Given the description of an element on the screen output the (x, y) to click on. 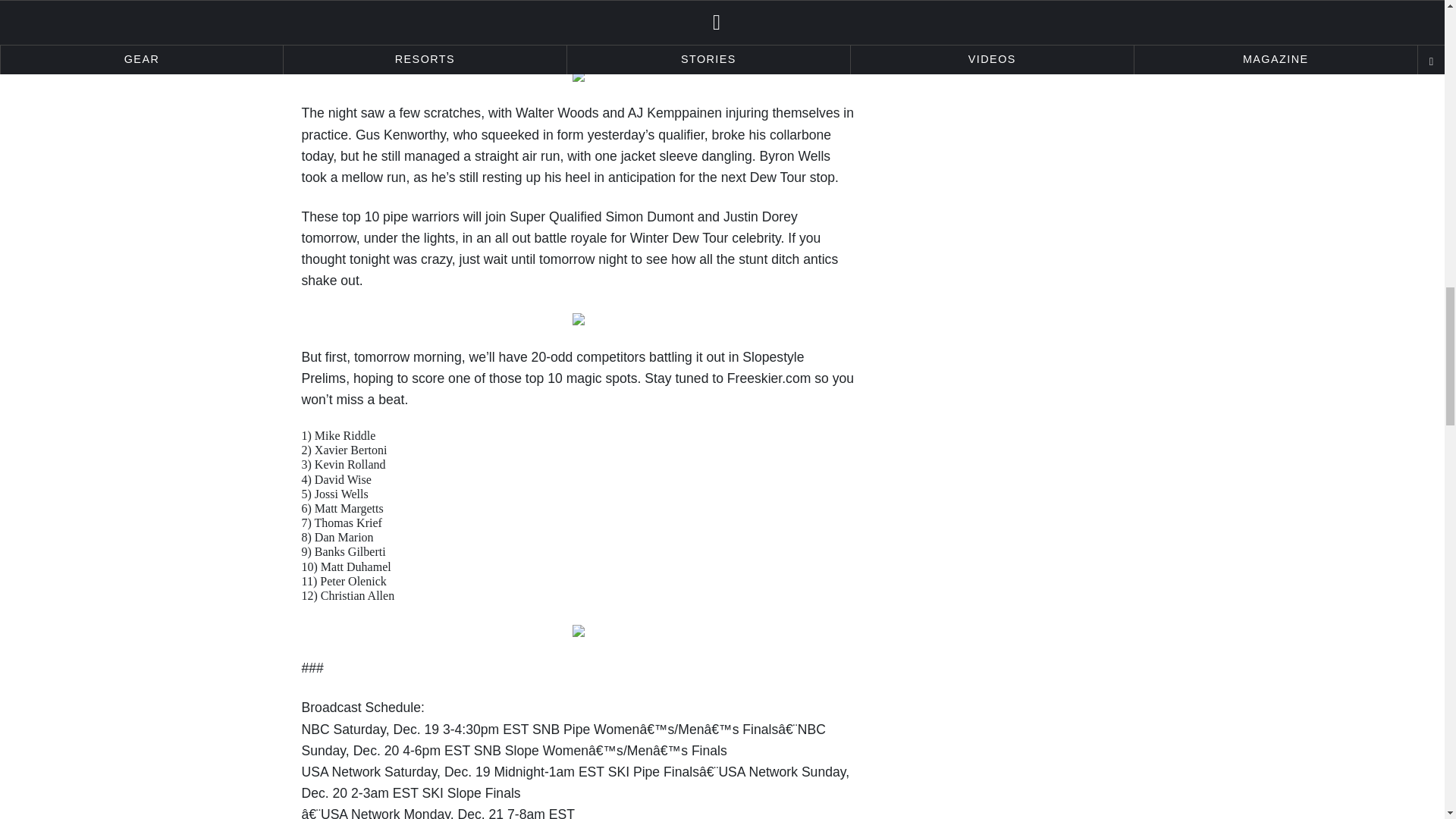
3rd party ad content (1028, 87)
